Given the description of an element on the screen output the (x, y) to click on. 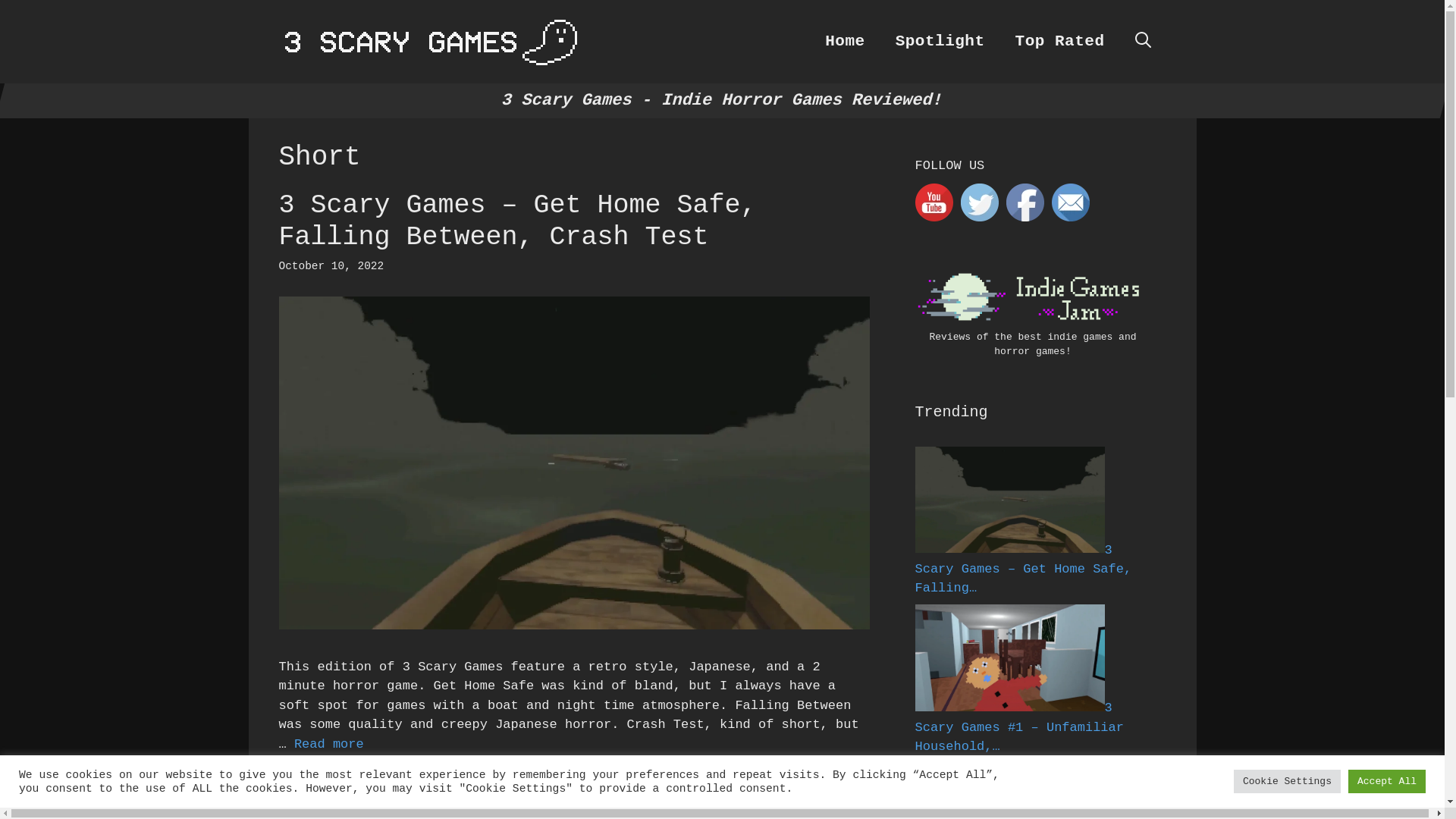
Boats Element type: text (312, 797)
Short Element type: text (587, 780)
Indie Games Jam Email Subscription Element type: hover (1069, 202)
Read more Element type: text (329, 744)
Top Rated Element type: text (1060, 41)
Adventure Element type: text (325, 780)
Home Element type: text (844, 41)
Spooky and Comfy YouTube Channel Element type: hover (933, 202)
Accept All Element type: text (1386, 781)
Spooky and Comfy Facebook Page Element type: hover (1024, 202)
Spooky and Comfy Twitter Account Element type: hover (978, 202)
Spotlight Element type: text (940, 41)
3 Scary Games Collection! Element type: hover (430, 41)
Haunted PS1 Element type: text (443, 780)
Jump Scare Element type: text (526, 780)
Junji Ito Element type: text (371, 797)
3 Scary Games - Get Home Safe, Falling Between, Crash Test Element type: hover (1009, 499)
3 Scary Games Collection! Element type: hover (430, 41)
Free Element type: text (381, 780)
Cookie Settings Element type: text (1286, 781)
